Given the description of an element on the screen output the (x, y) to click on. 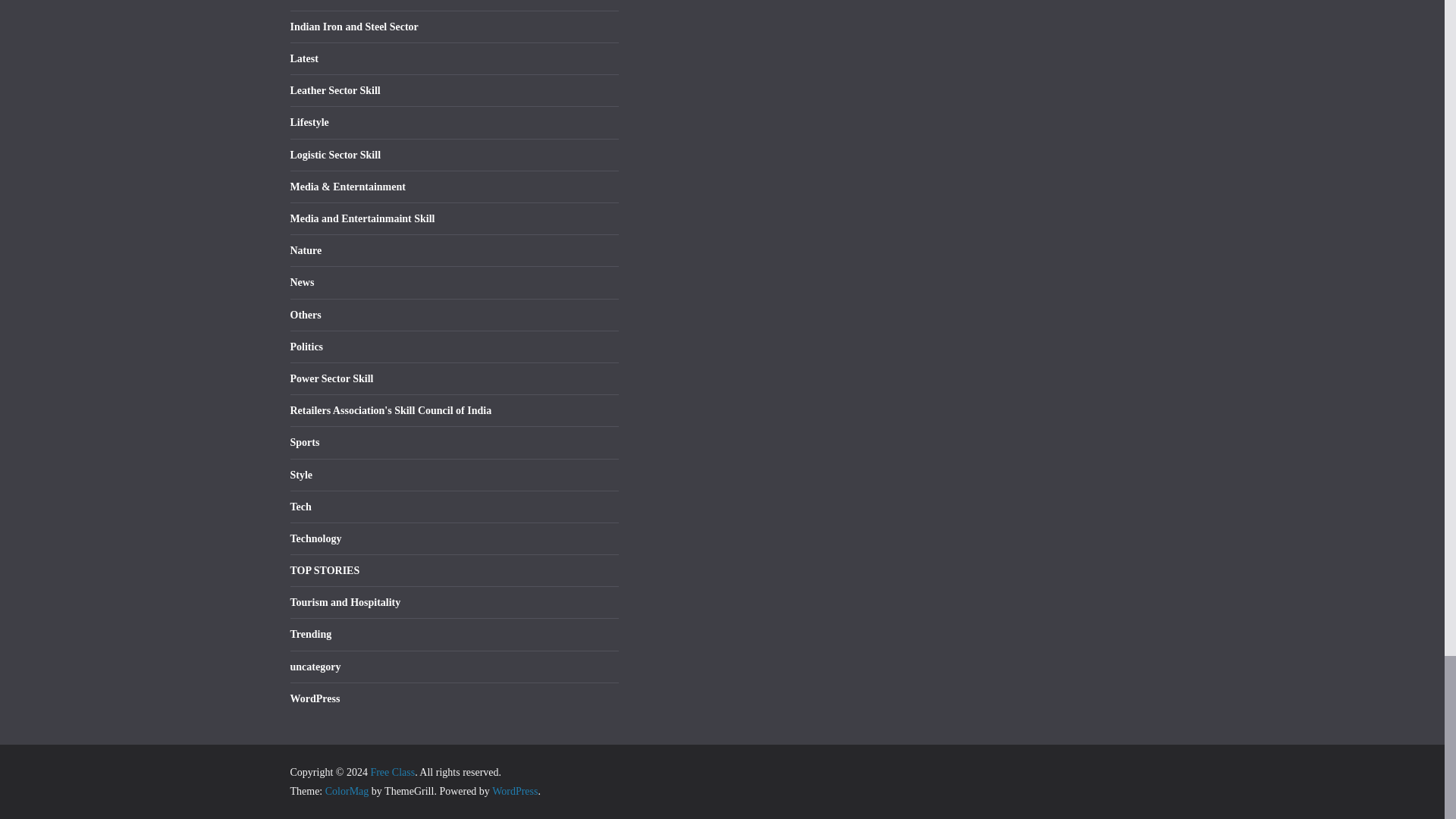
ColorMag (346, 790)
WordPress (514, 790)
Free Class (391, 772)
